Given the description of an element on the screen output the (x, y) to click on. 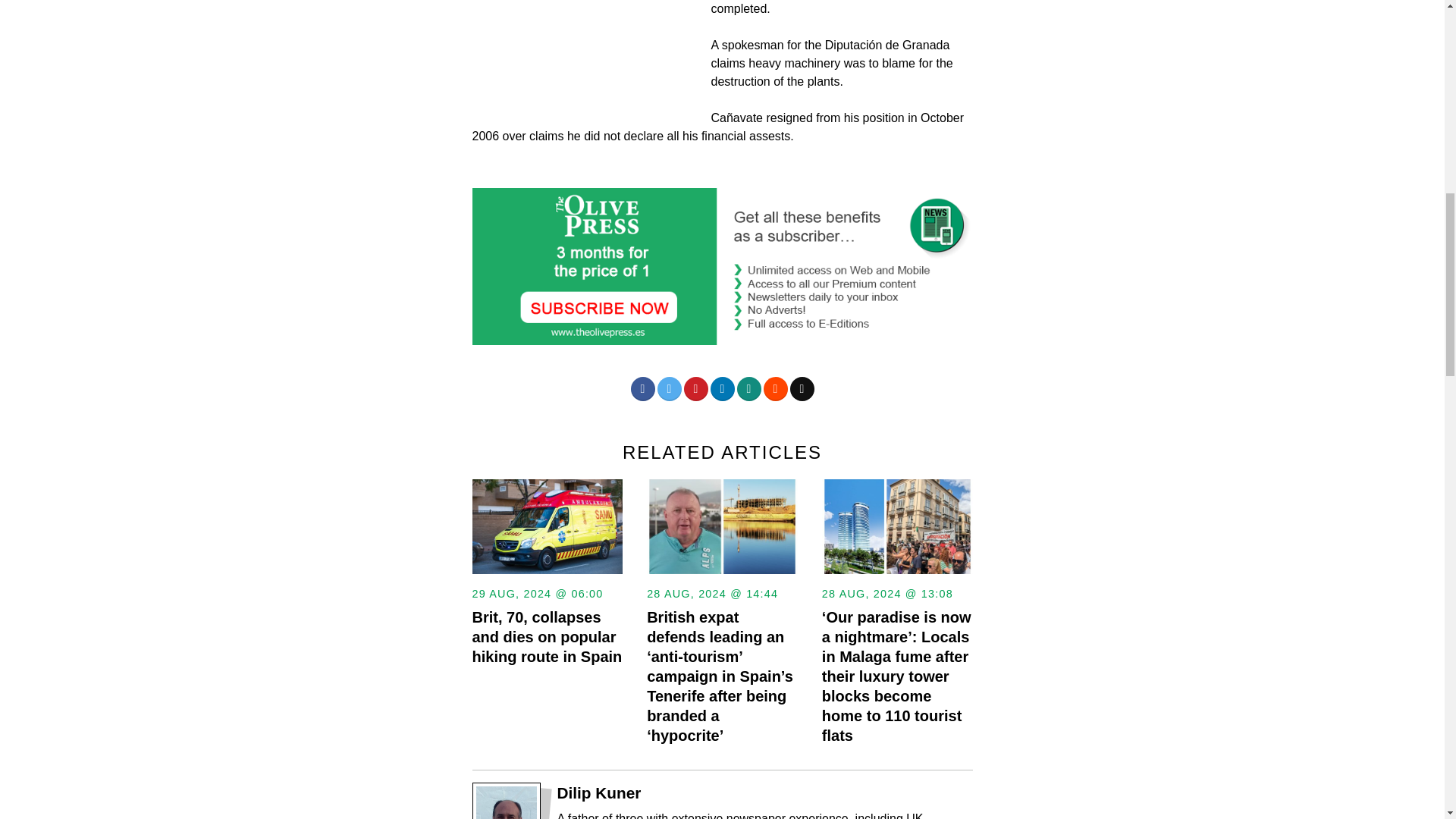
28 Aug, 2024 13:22:08 (887, 593)
28 Aug, 2024 14:26:44 (711, 593)
29 Aug, 2024 06:00:00 (1396, 22)
